Given the description of an element on the screen output the (x, y) to click on. 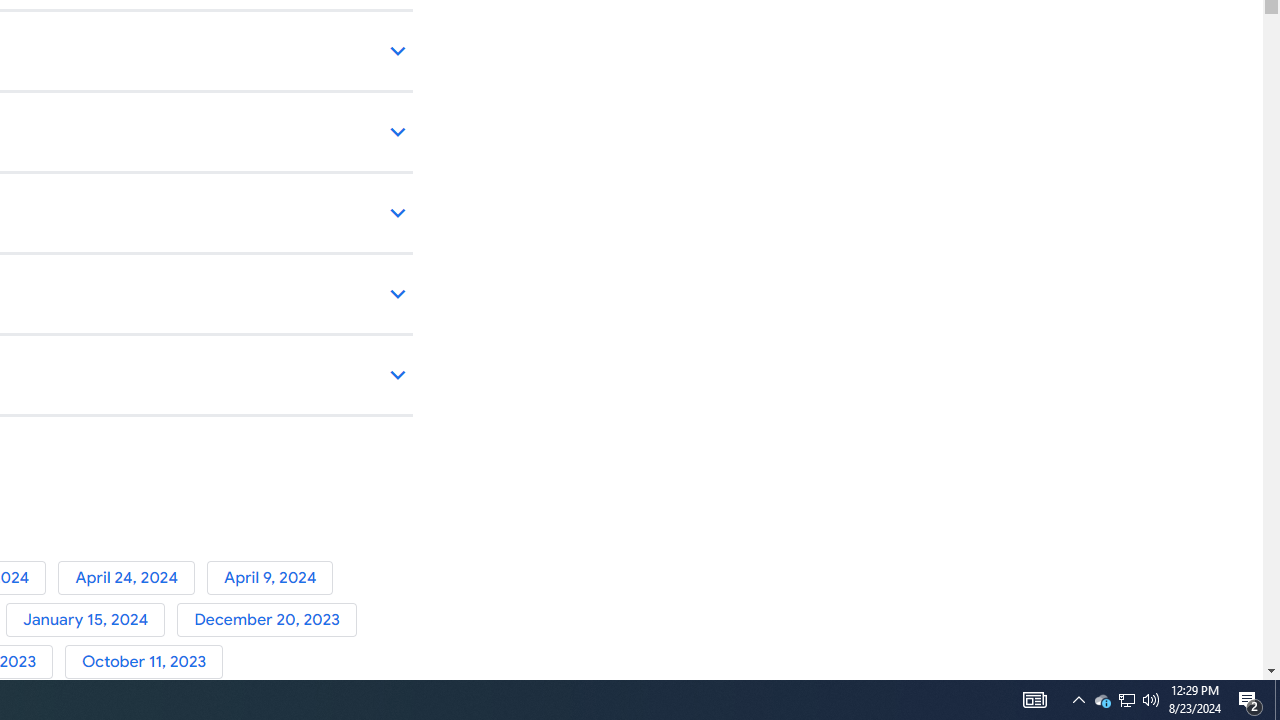
April 9, 2024 (273, 577)
January 15, 2024 (91, 620)
April 24, 2024 (132, 577)
October 11, 2023 (147, 661)
December 20, 2023 (270, 620)
